Given the description of an element on the screen output the (x, y) to click on. 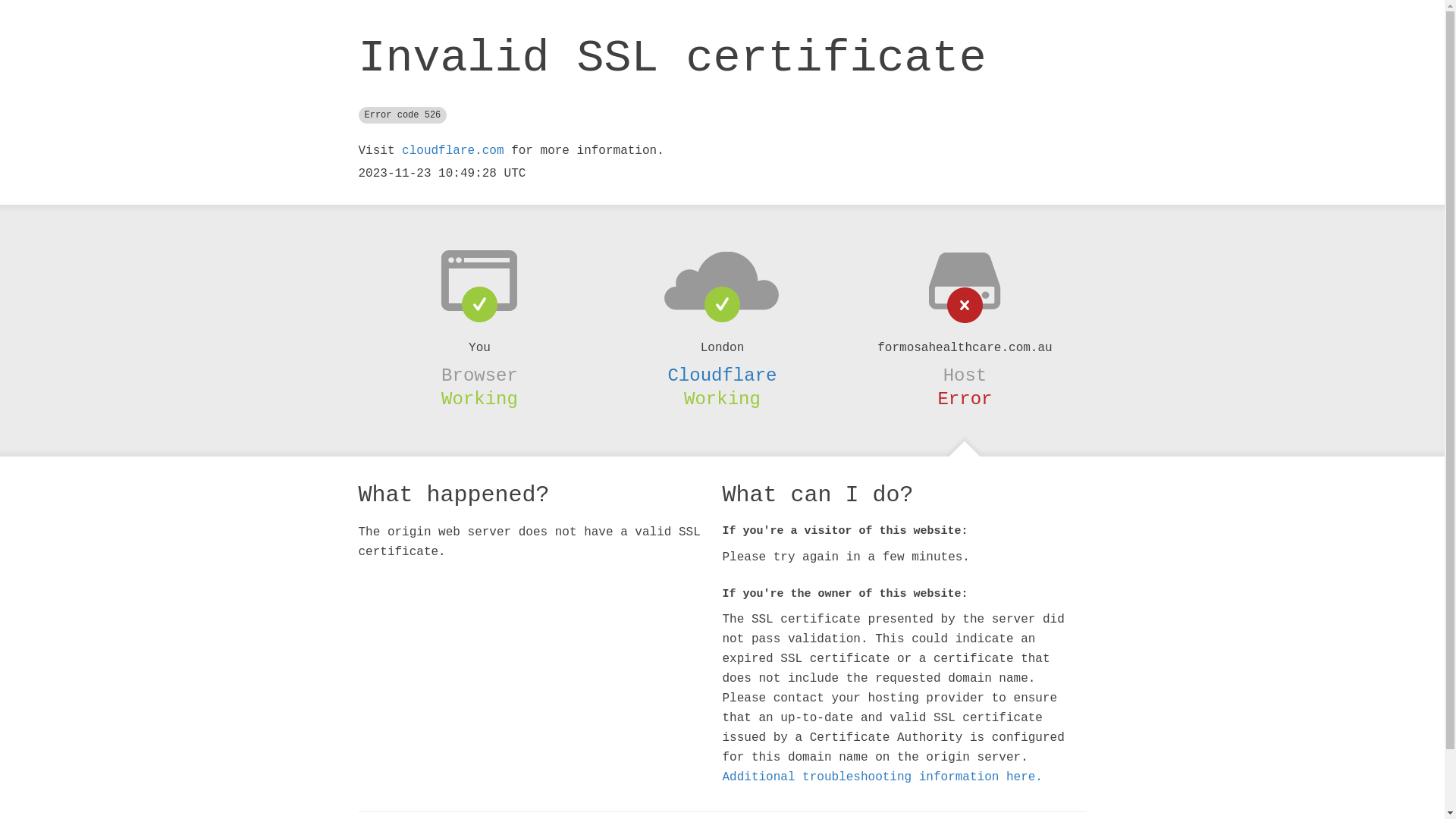
Additional troubleshooting information here. Element type: text (881, 777)
cloudflare.com Element type: text (452, 150)
Cloudflare Element type: text (721, 375)
